Given the description of an element on the screen output the (x, y) to click on. 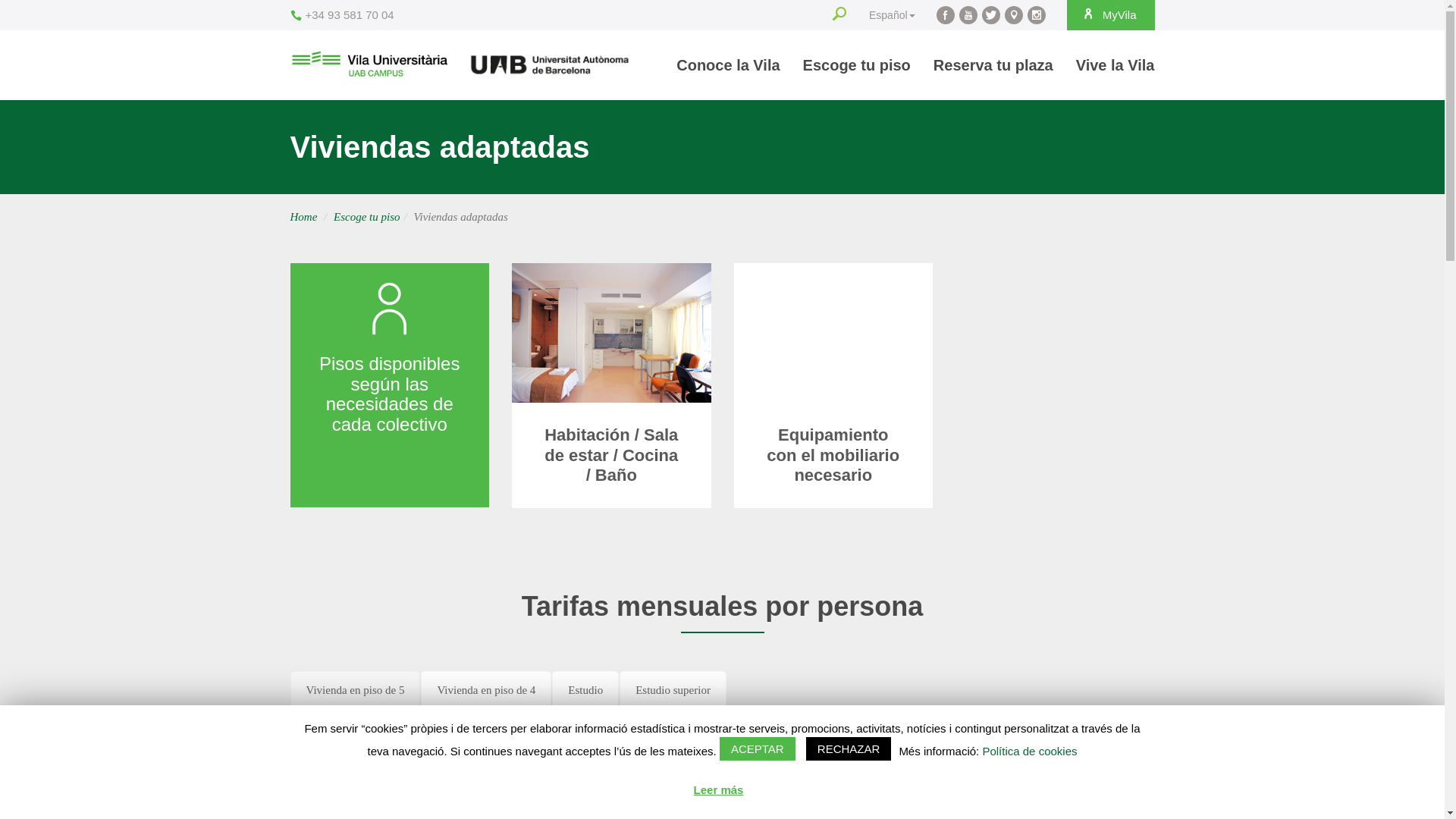
RESERVA Element type: text (1098, 736)
Vive la Vila Element type: text (1109, 65)
Twitter @es Element type: text (991, 15)
ACEPTAR Element type: text (757, 748)
Conoce la Vila Element type: text (727, 65)
Escoge tu piso Element type: text (366, 216)
MyVila Element type: text (1110, 15)
+34 93 581 70 04 Element type: text (341, 15)
Facebook @es Element type: text (945, 15)
Estudio superior Element type: text (672, 690)
Maps @es Element type: text (1013, 15)
Reserva tu plaza Element type: text (993, 65)
Home Element type: text (302, 216)
Escoge tu piso Element type: text (856, 65)
RECHAZAR Element type: text (848, 748)
UAB Element type: text (549, 64)
Estudio Element type: text (585, 690)
RESERVA Element type: text (1098, 792)
YouTube @es Element type: text (968, 15)
Instagram @es Element type: text (1036, 15)
Vivienda en piso de 4 Element type: text (485, 690)
Vivienda en piso de 5 Element type: text (354, 690)
Search Element type: text (839, 15)
